Given the description of an element on the screen output the (x, y) to click on. 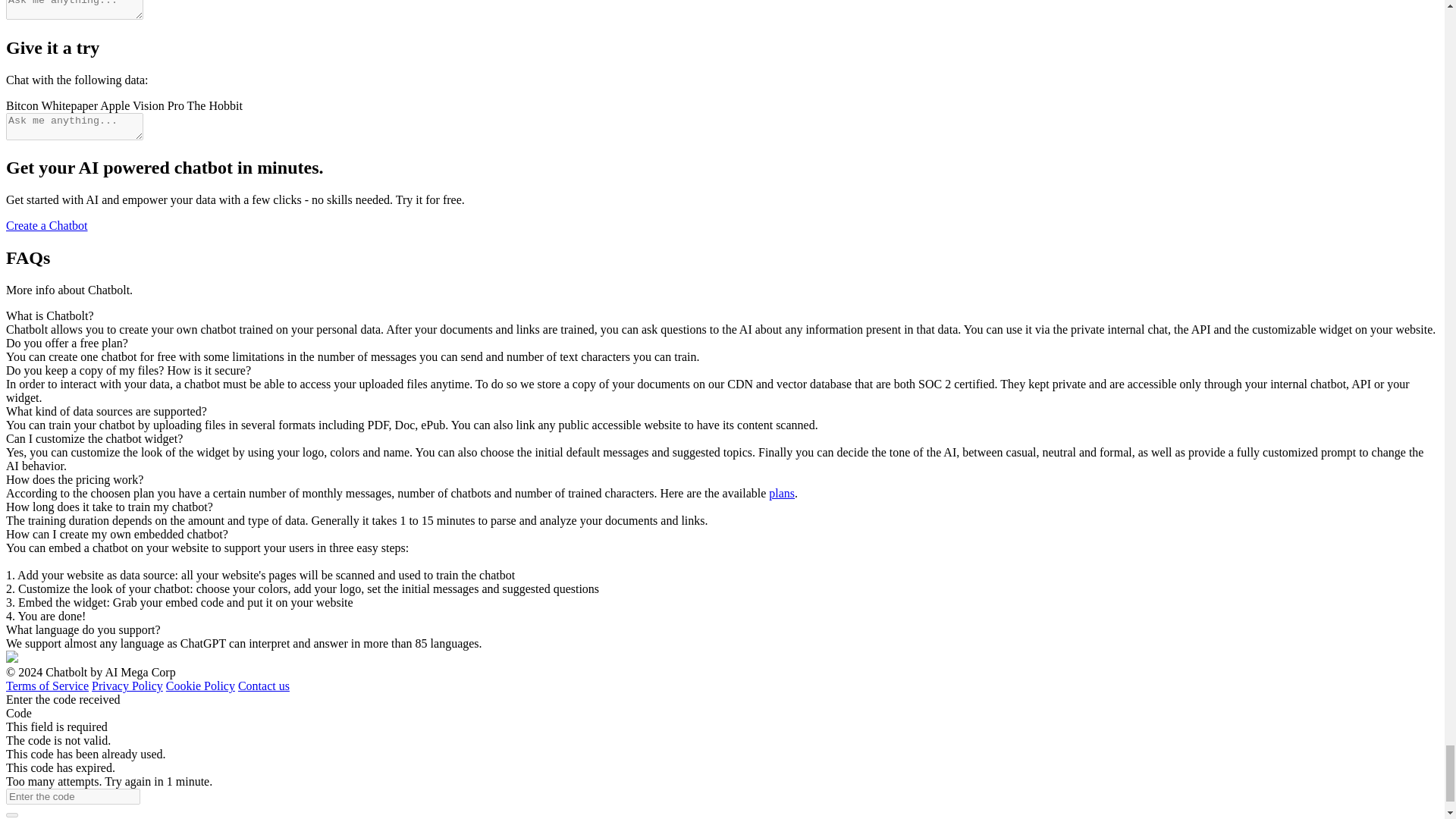
Bitcon Whitepaper (51, 105)
plans (781, 492)
Send again (133, 818)
Privacy Policy (127, 685)
The Hobbit (215, 105)
Contact us (263, 685)
Terms of Service (46, 685)
Create a Chatbot (46, 225)
Apple Vision Pro (142, 105)
Cookie Policy (199, 685)
